Given the description of an element on the screen output the (x, y) to click on. 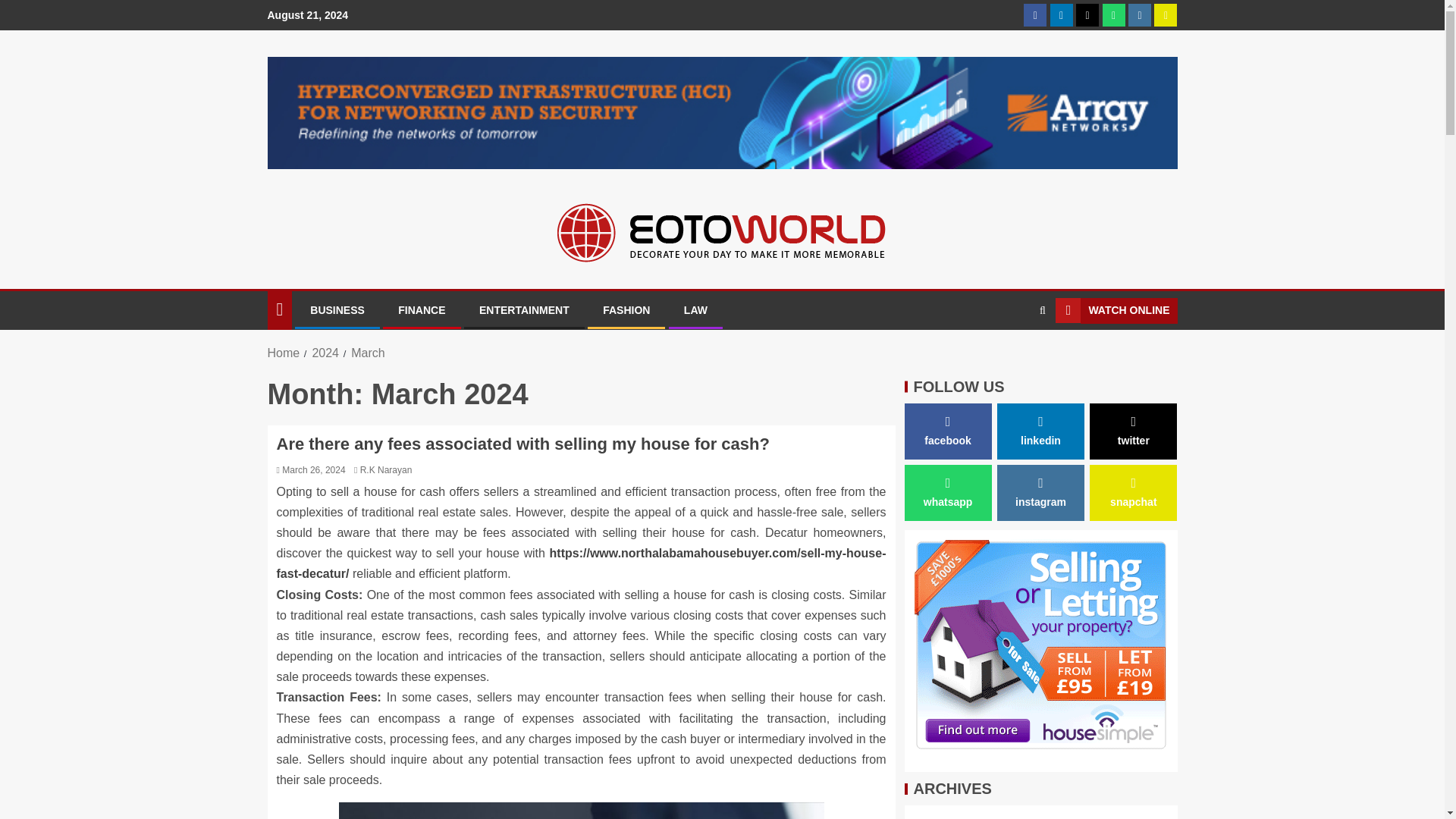
WATCH ONLINE (1115, 310)
ENTERTAINMENT (524, 309)
Search (1013, 357)
March (367, 352)
LAW (695, 309)
Home (282, 352)
2024 (325, 352)
R.K Narayan (385, 470)
FASHION (625, 309)
